Given the description of an element on the screen output the (x, y) to click on. 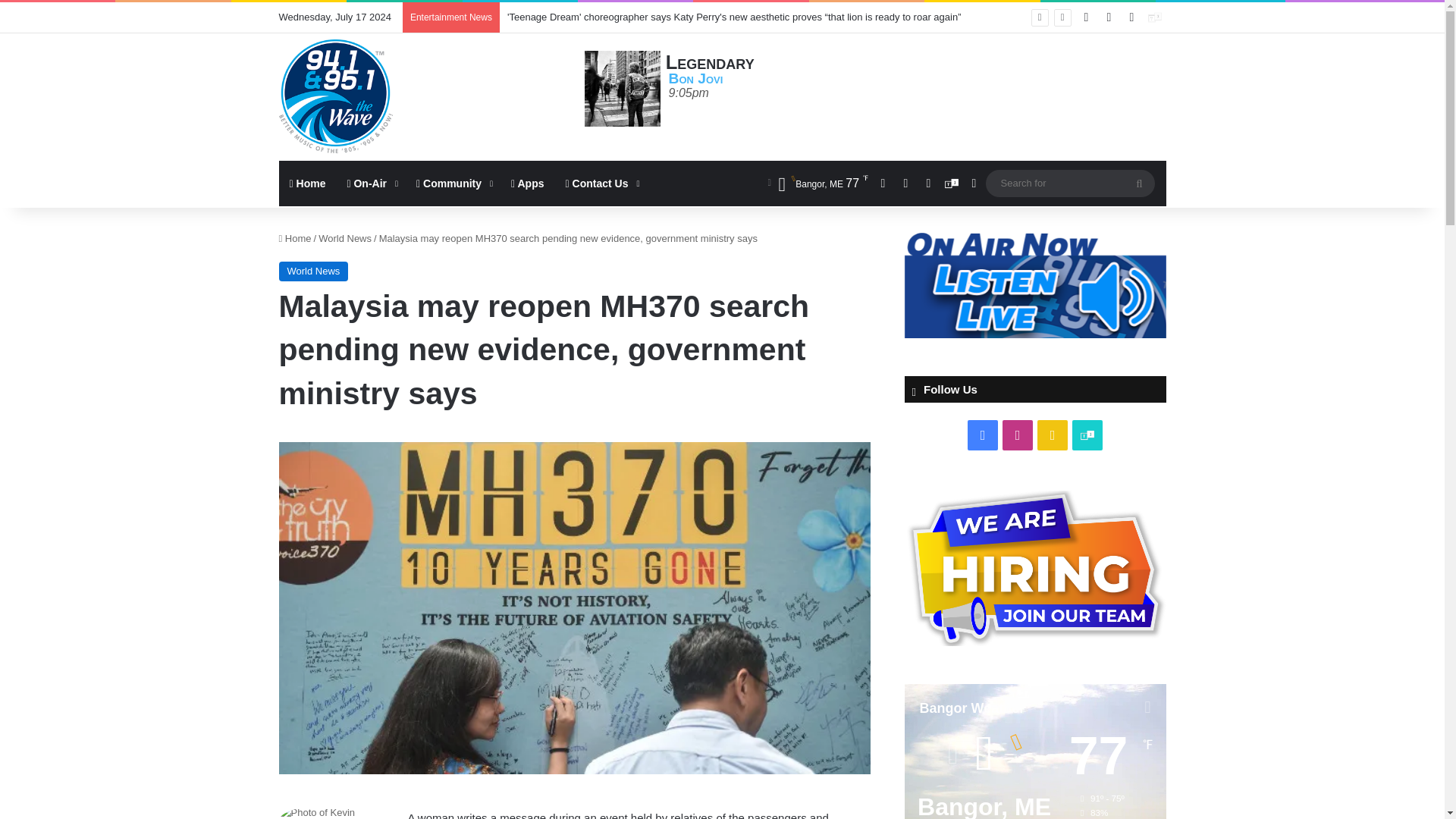
941 The Wave (336, 96)
Apps (527, 183)
Search for (1139, 183)
Search for (1069, 182)
World News (344, 238)
Scattered Clouds (817, 183)
On-Air (371, 183)
Community (453, 183)
Home (295, 238)
Home (307, 183)
World News (314, 271)
Contact Us (600, 183)
